Given the description of an element on the screen output the (x, y) to click on. 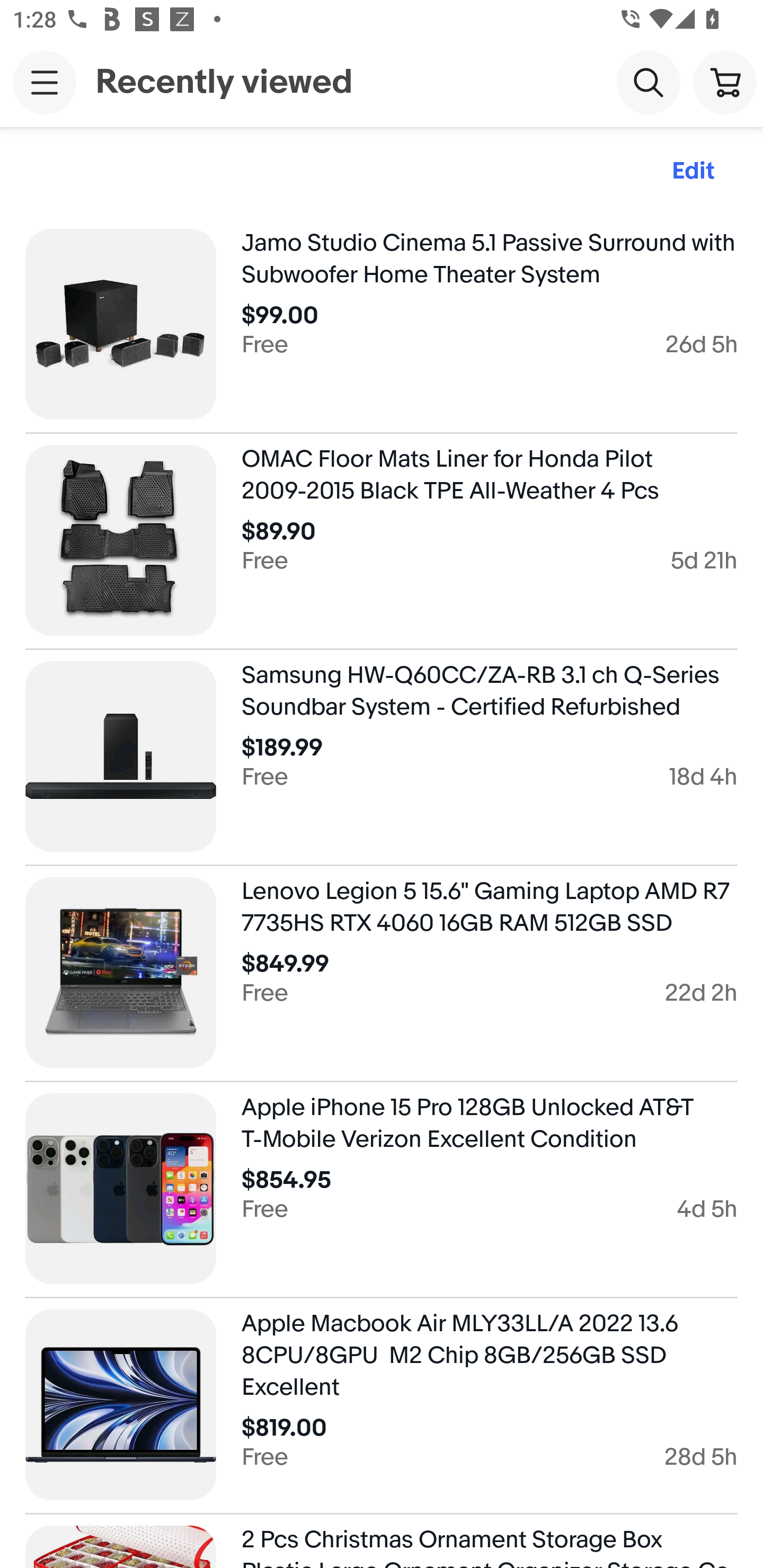
Main navigation, open (44, 82)
Search (648, 81)
Cart button shopping cart (724, 81)
Edit (693, 171)
